Given the description of an element on the screen output the (x, y) to click on. 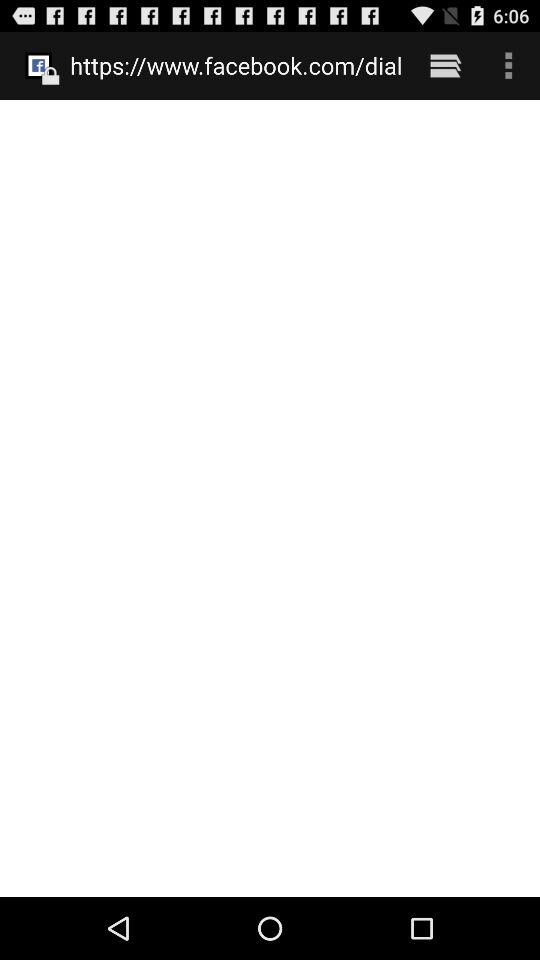
tap icon next to https www facebook (444, 65)
